Given the description of an element on the screen output the (x, y) to click on. 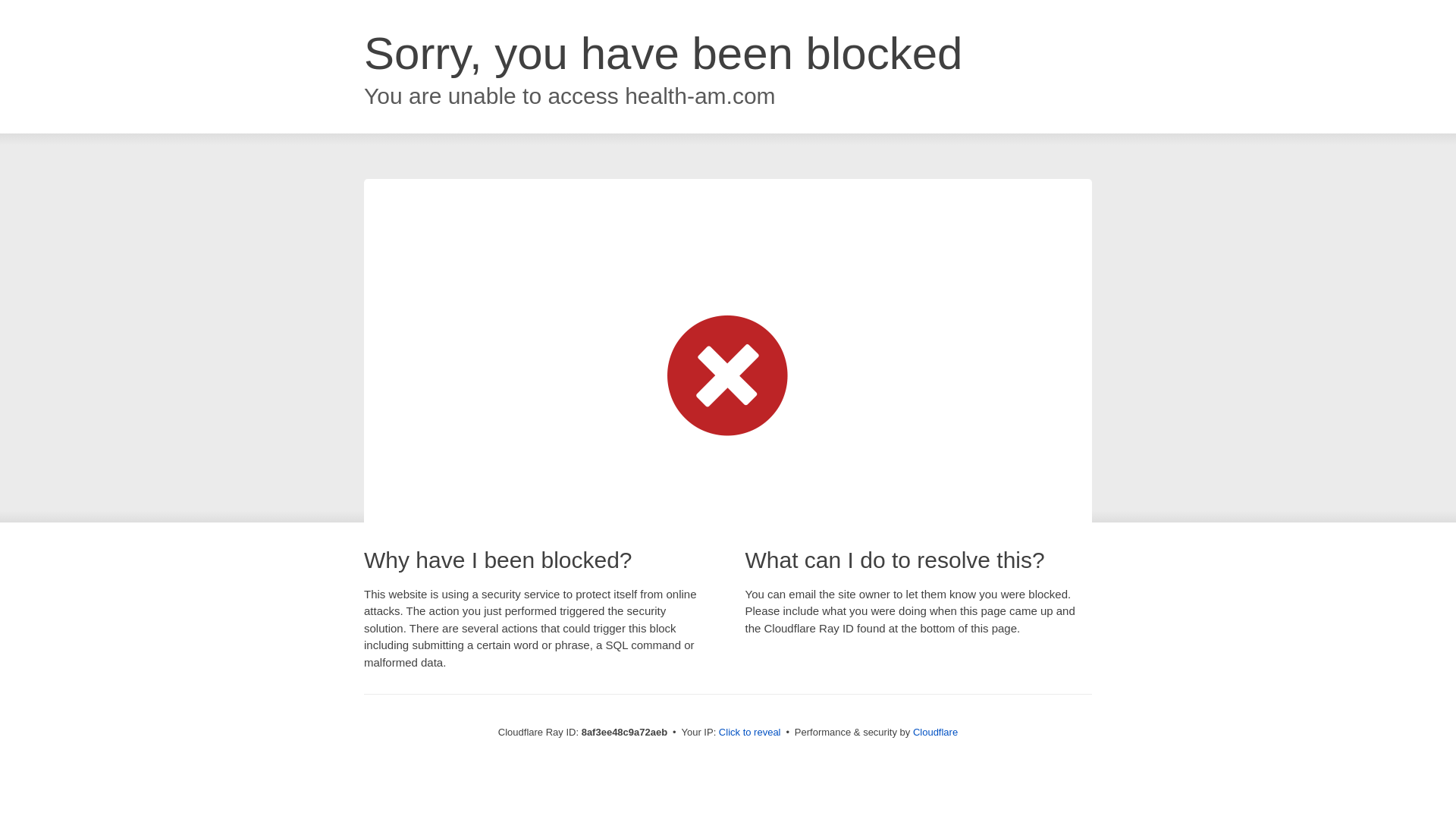
Click to reveal (749, 732)
Cloudflare (935, 731)
